Given the description of an element on the screen output the (x, y) to click on. 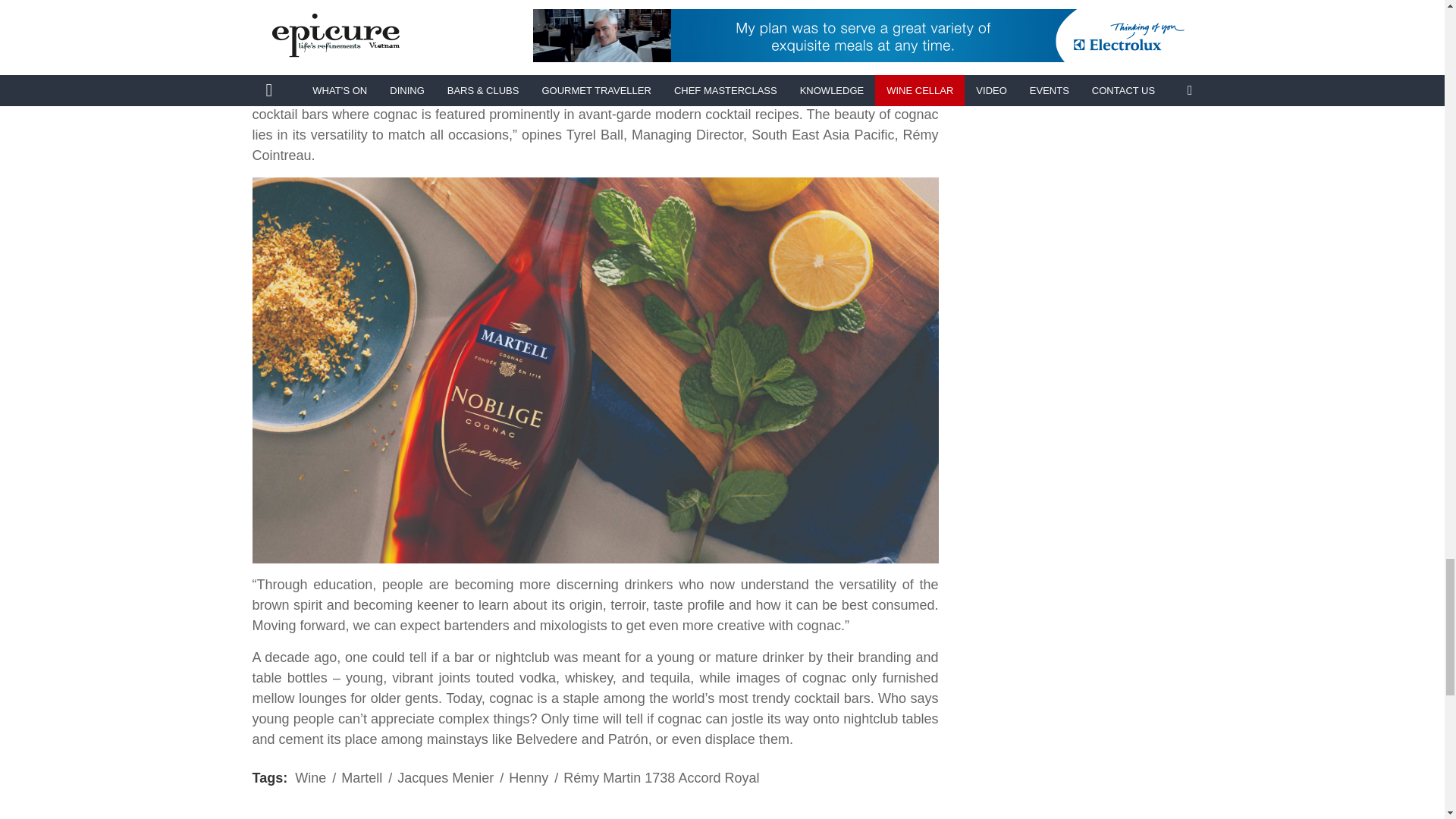
Wine (310, 778)
